Given the description of an element on the screen output the (x, y) to click on. 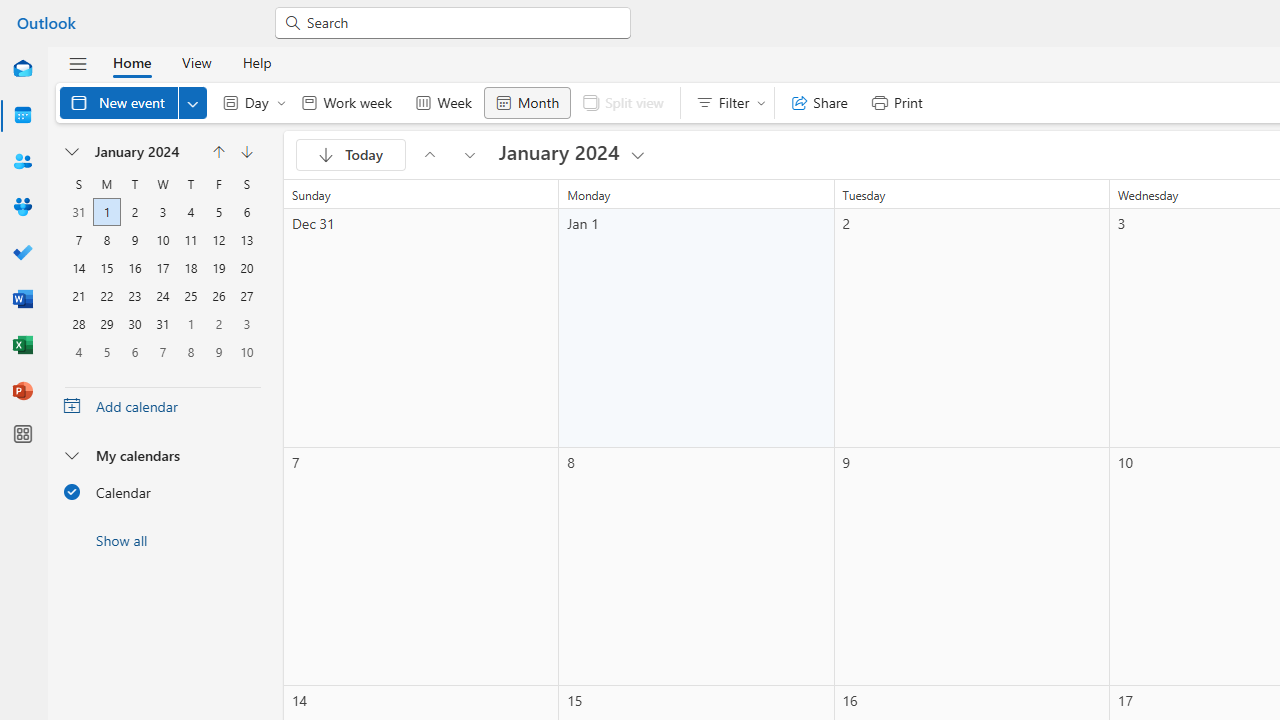
Work week (346, 102)
10, January, 2024 (162, 240)
Mail (22, 69)
20, January, 2024 (246, 268)
To Do (22, 254)
Expand to see more New options (192, 102)
2, February, 2024 (218, 323)
5, January, 2024 (218, 211)
14, January, 2024 (78, 268)
18, January, 2024 (191, 268)
Excel (22, 345)
4, February, 2024 (79, 351)
11, January, 2024 (190, 240)
Help (256, 61)
